Given the description of an element on the screen output the (x, y) to click on. 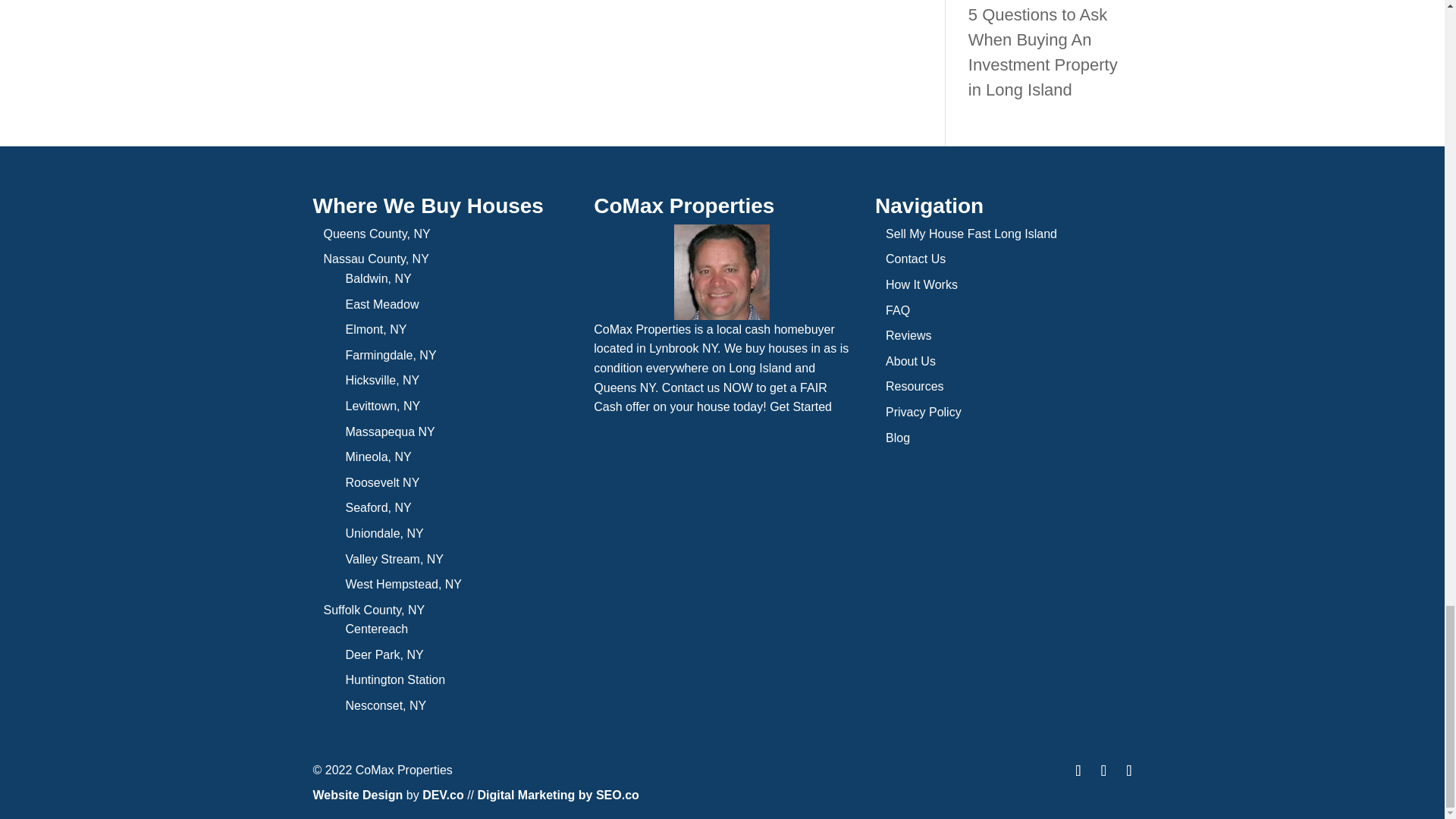
Baldwin, NY (379, 278)
Queens County, NY (376, 233)
East Meadow (382, 304)
Nassau County, NY (375, 258)
